Given the description of an element on the screen output the (x, y) to click on. 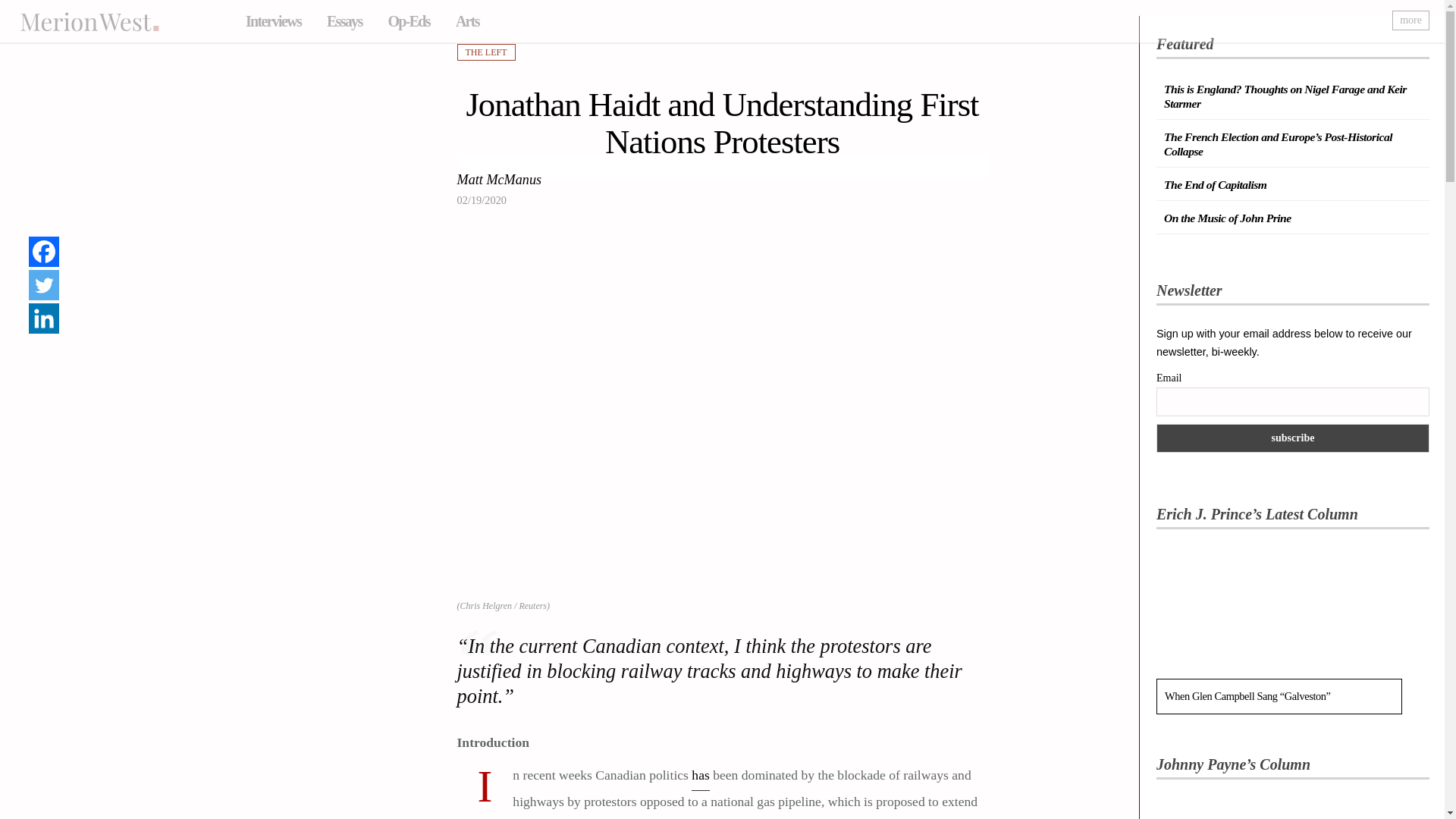
Arts (467, 21)
Facebook (44, 251)
more (1410, 20)
All posts by Matt McManus (499, 179)
Op-Eds (408, 21)
Matt McManus (499, 179)
Subscribe (1292, 438)
Interviews (273, 21)
Linkedin (44, 318)
This is England? Thoughts on Nigel Farage and Keir Starmer (1284, 95)
